Given the description of an element on the screen output the (x, y) to click on. 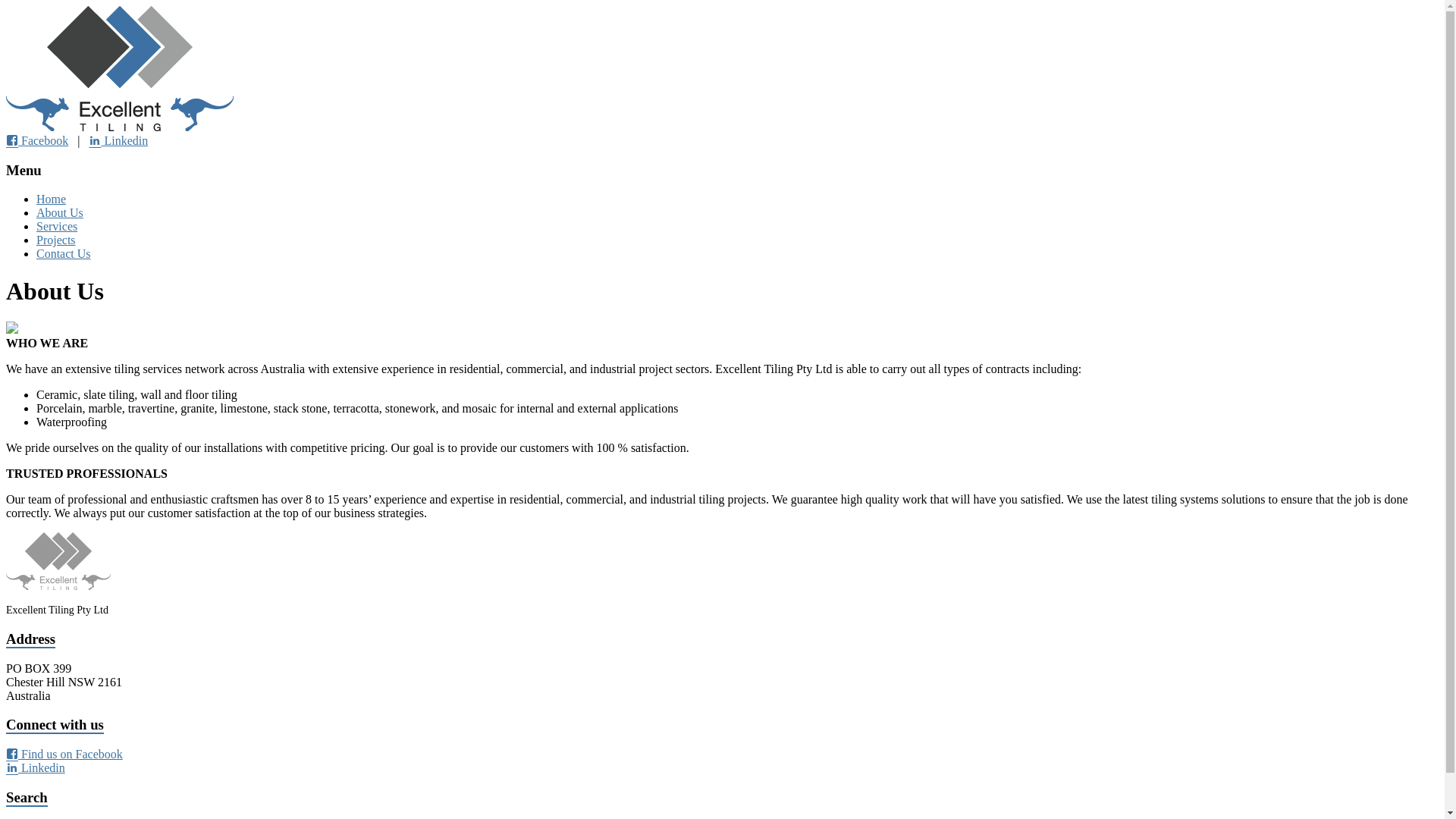
Find us on Facebook Element type: text (64, 753)
Linkedin Element type: text (117, 140)
Contact Us Element type: text (63, 253)
Facebook Element type: text (37, 140)
Projects Element type: text (55, 239)
Linkedin Element type: text (35, 767)
Home Element type: text (50, 198)
About Us Element type: text (59, 212)
Excellent Tiling Element type: text (53, 156)
Services Element type: text (56, 225)
Excellent Tiling Element type: hover (119, 126)
